Given the description of an element on the screen output the (x, y) to click on. 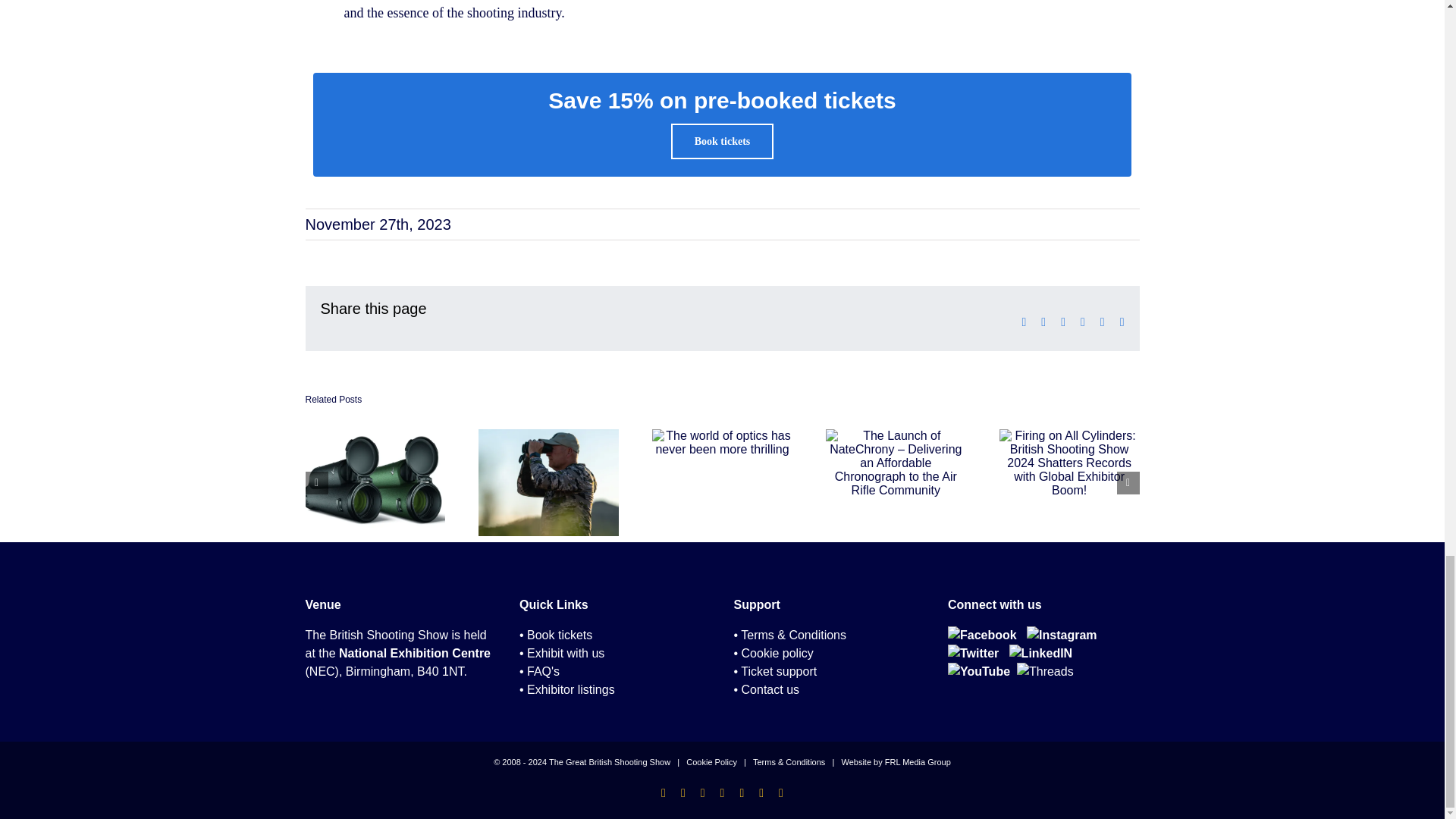
LinkedIn (1041, 653)
Facebook (981, 634)
Twitter (972, 653)
YouTube (978, 671)
Instagram (1061, 634)
Book tickets (722, 140)
